Given the description of an element on the screen output the (x, y) to click on. 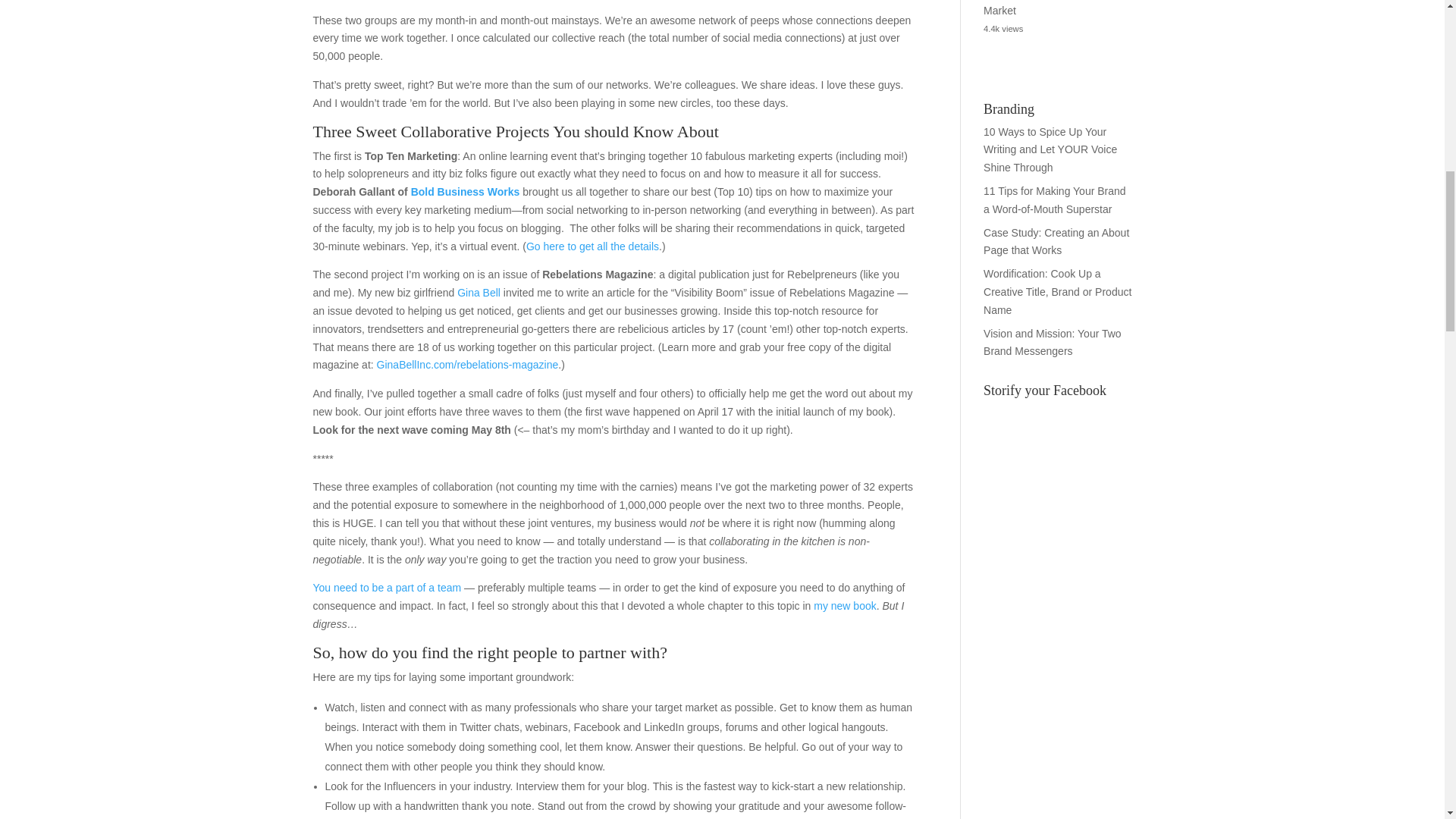
Gina Bell (478, 292)
Case Study: Creating an About Page that Works (1056, 241)
Collaborations: 12 Ways to Build Your Brand (387, 587)
11 Tips for Making Your Brand a Word-of-Mouth Superstar (1054, 200)
Go here to get all the details (592, 246)
Vision and Mission: Your Two Brand Messengers (1052, 342)
Bold Business Works (464, 191)
